Given the description of an element on the screen output the (x, y) to click on. 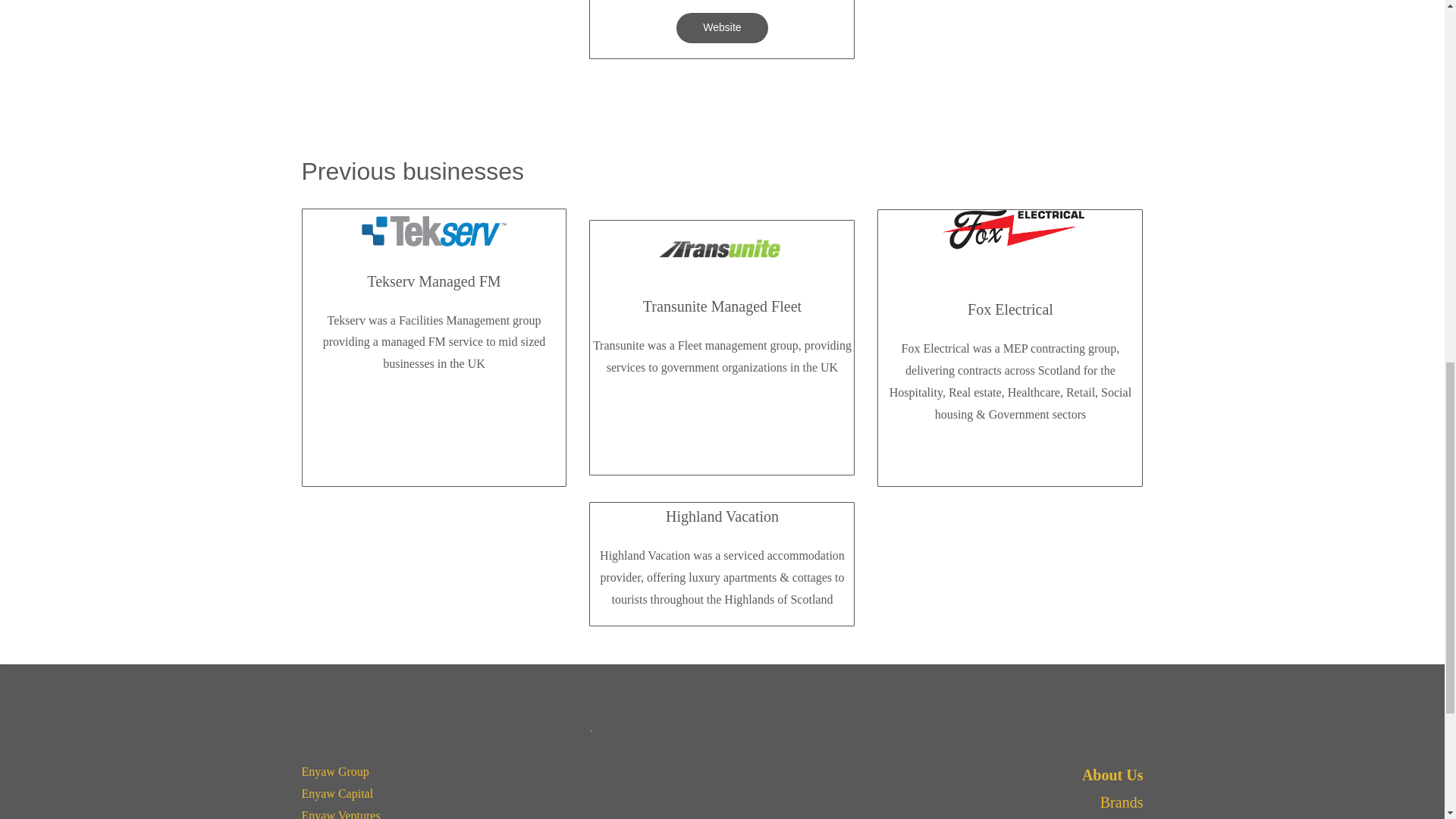
Brands (1121, 801)
Enyaw Capital (337, 793)
Enyaw Group (335, 771)
Brands (1121, 801)
Enyaw Capital (337, 793)
Enyaw Ventures (340, 814)
About Us (1111, 774)
Website (722, 28)
Enyaw Ventures (340, 814)
Enyaw Group (335, 771)
About Us (1111, 774)
